Given the description of an element on the screen output the (x, y) to click on. 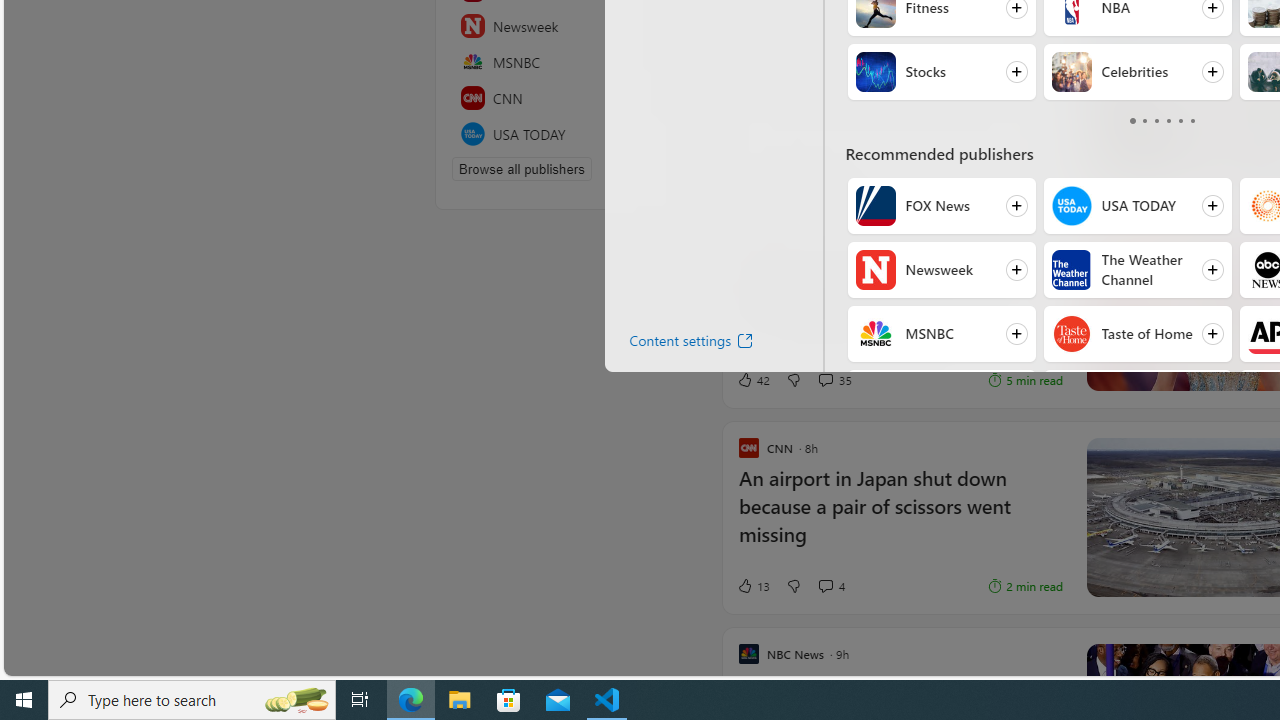
Stocks (875, 71)
Follow MSNBC (941, 334)
Follow Stocks (941, 71)
MSNBC (555, 61)
USA TODAY (1070, 205)
Follow this source (645, 134)
Ad (754, 179)
Taste of Home (1070, 333)
Follow this source (645, 134)
Follow Newsweek (941, 269)
Follow The Weather Channel (1137, 269)
USA TODAY (555, 133)
Class: tab-no-click tab  (1192, 120)
Newsweek (875, 269)
